Given the description of an element on the screen output the (x, y) to click on. 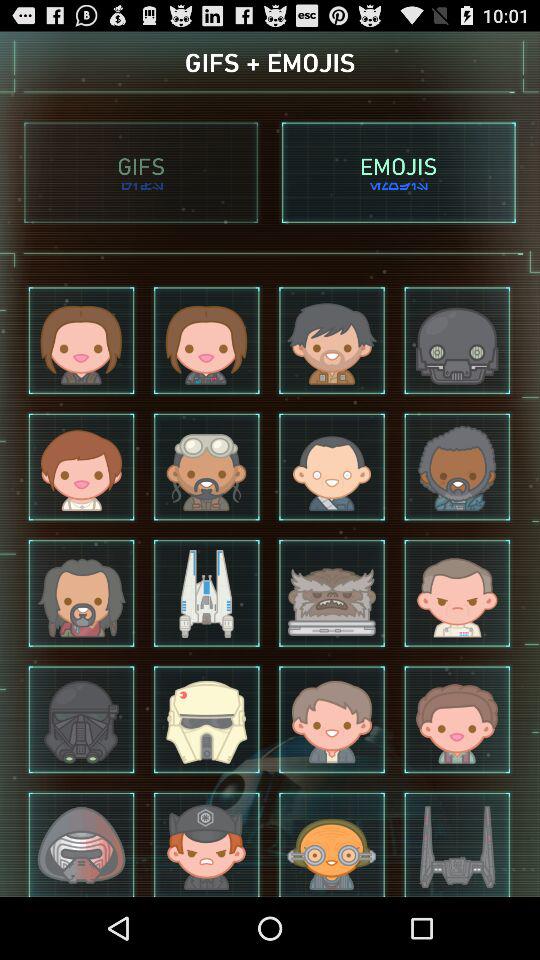
select the third emoji from the bottom (331, 843)
select the image which is second in the first row (206, 341)
click on the second image in the fifth row (206, 843)
select the last image at the right corner in the bottom (457, 843)
select the 9th emoji (81, 592)
select the 4th emoji (457, 341)
click on the second row fourth image (457, 466)
click on the third image in the second row (331, 466)
click on the fourth image in the third row (457, 592)
